Given the description of an element on the screen output the (x, y) to click on. 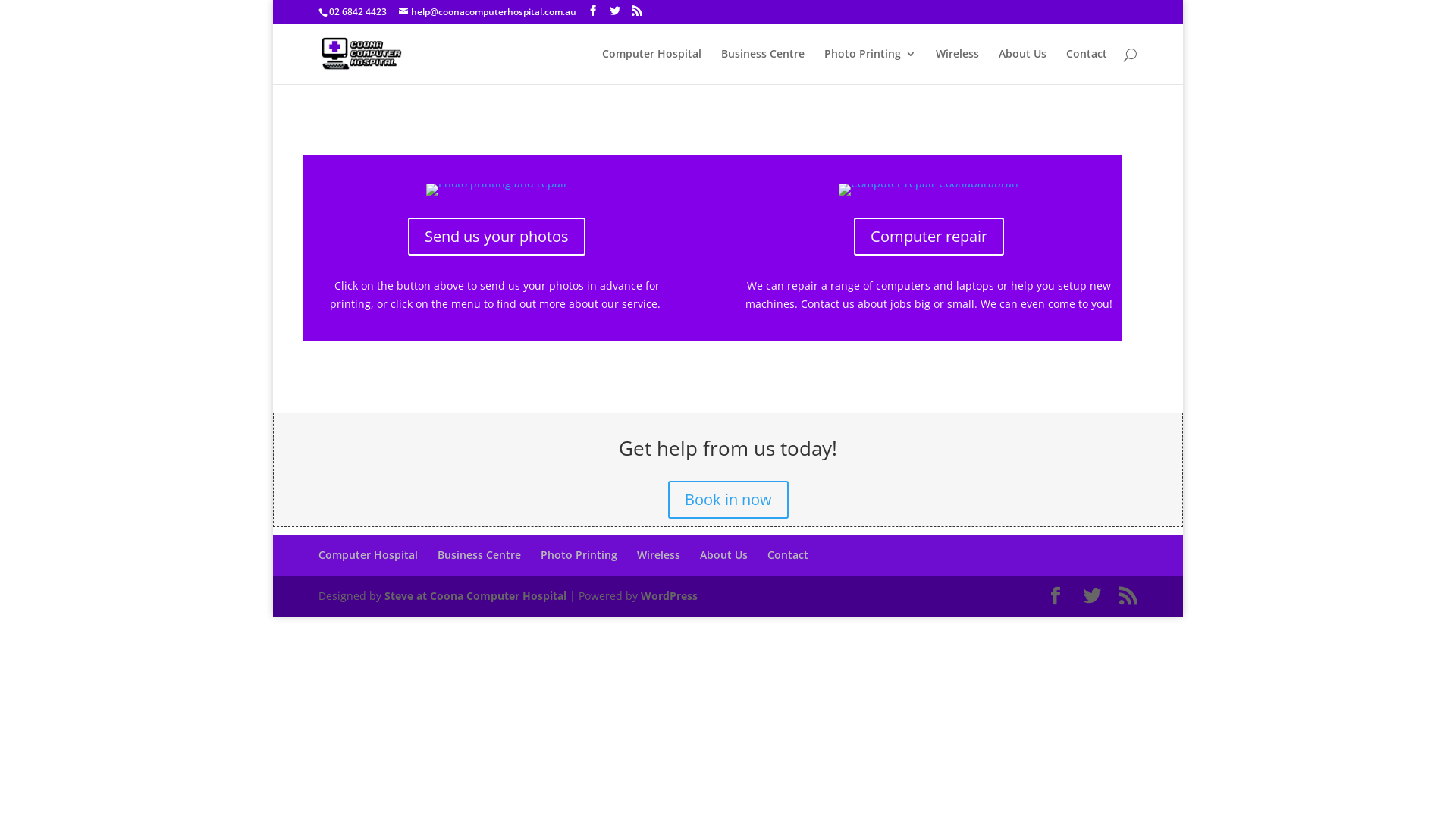
Wireless Element type: text (658, 554)
Photo Printing Element type: text (870, 66)
Business Centre Element type: text (762, 66)
Book in now Element type: text (727, 499)
Steve at Coona Computer Hospital Element type: text (475, 595)
Photo Printing Element type: text (578, 554)
help@coonacomputerhospital.com.au Element type: text (487, 11)
Contact Element type: text (787, 554)
WordPress Element type: text (668, 595)
About Us Element type: text (1022, 66)
Computer Hospital Element type: text (651, 66)
Wireless Element type: text (957, 66)
Computer Hospital Element type: text (367, 554)
Computer repair Element type: text (928, 236)
Business Centre Element type: text (478, 554)
About Us Element type: text (723, 554)
Contact Element type: text (1086, 66)
Send us your photos Element type: text (496, 236)
